Given the description of an element on the screen output the (x, y) to click on. 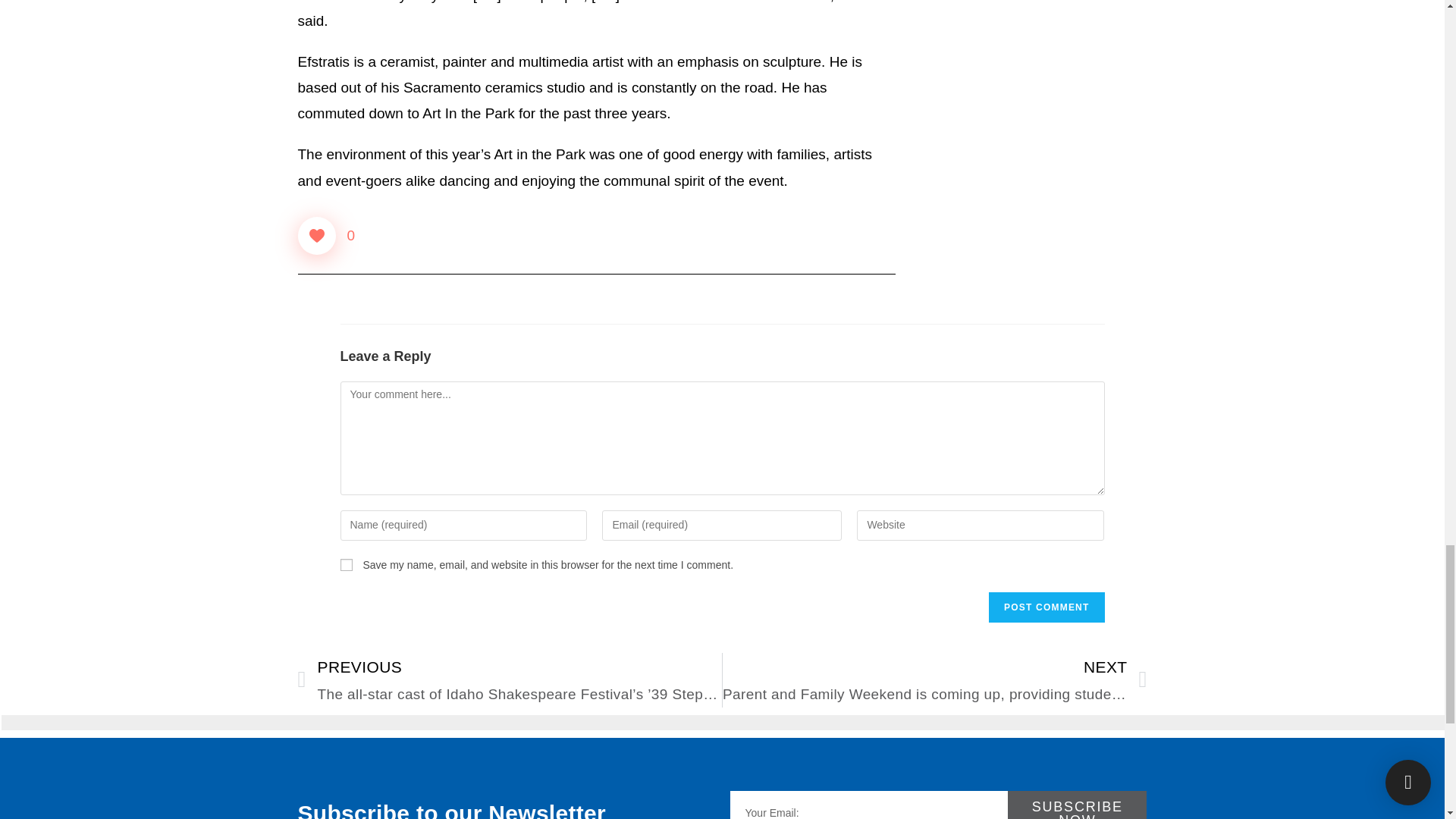
yes (345, 564)
Post Comment (1045, 607)
